Given the description of an element on the screen output the (x, y) to click on. 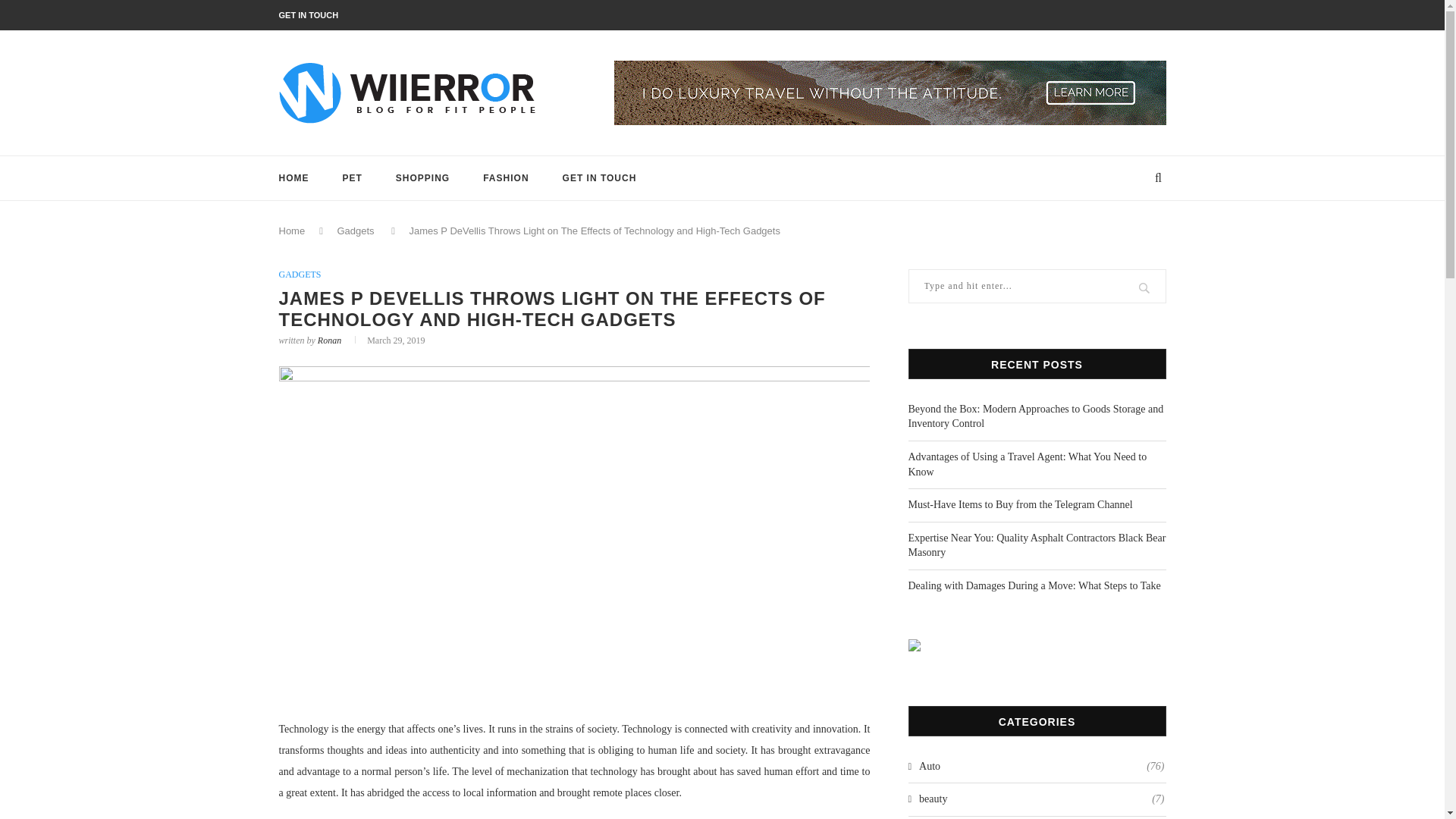
GADGETS (300, 274)
Home (292, 230)
GET IN TOUCH (599, 177)
GET IN TOUCH (309, 14)
SHOPPING (422, 177)
FASHION (505, 177)
Ronan (328, 339)
View all posts in Gadgets (300, 274)
Gadgets (355, 230)
